Given the description of an element on the screen output the (x, y) to click on. 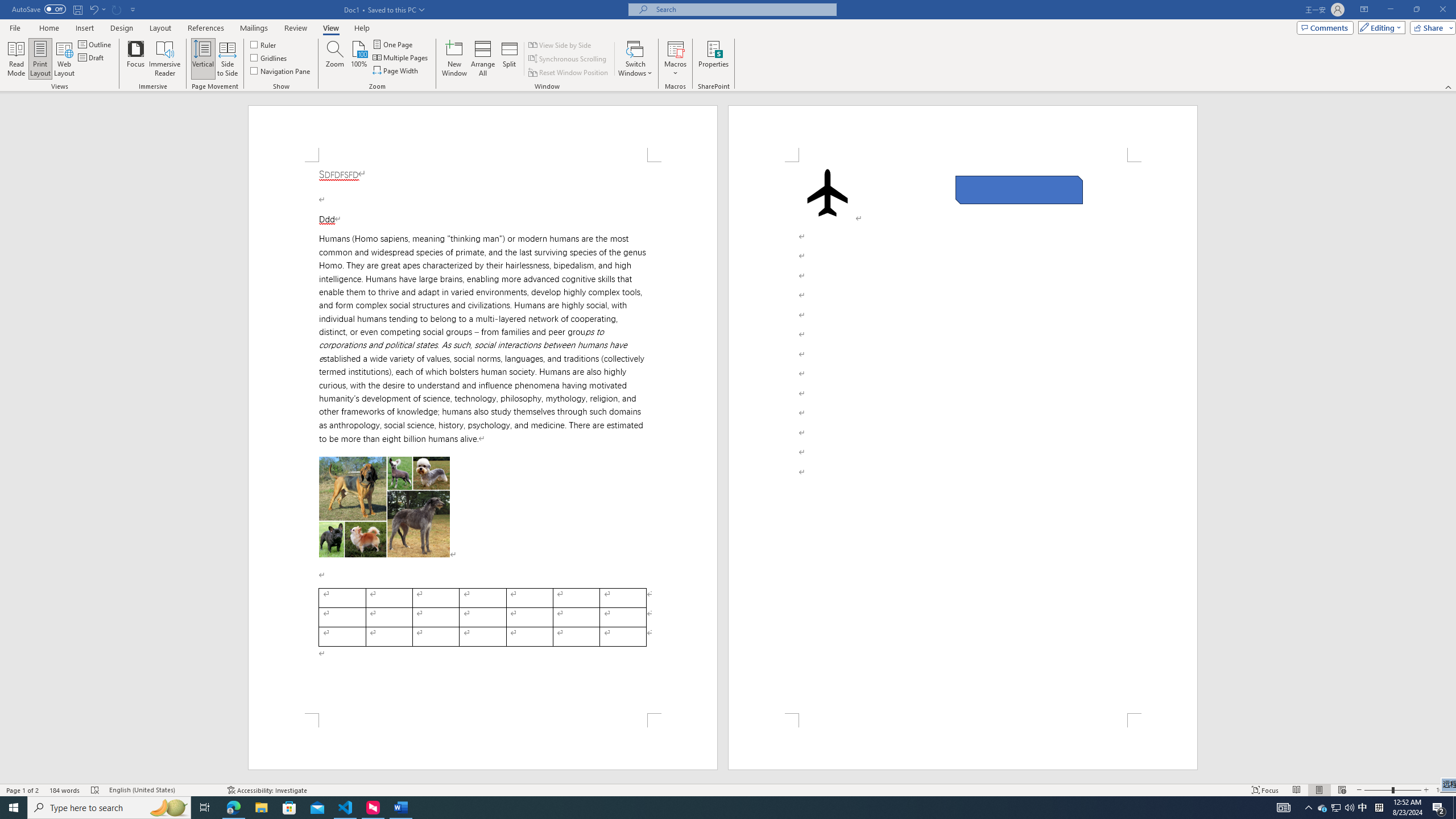
Editing (1379, 27)
Zoom In (1426, 790)
Restore Down (1416, 9)
Page 2 content (963, 437)
Split (509, 58)
Read Mode (16, 58)
Page 1 content (482, 437)
